Given the description of an element on the screen output the (x, y) to click on. 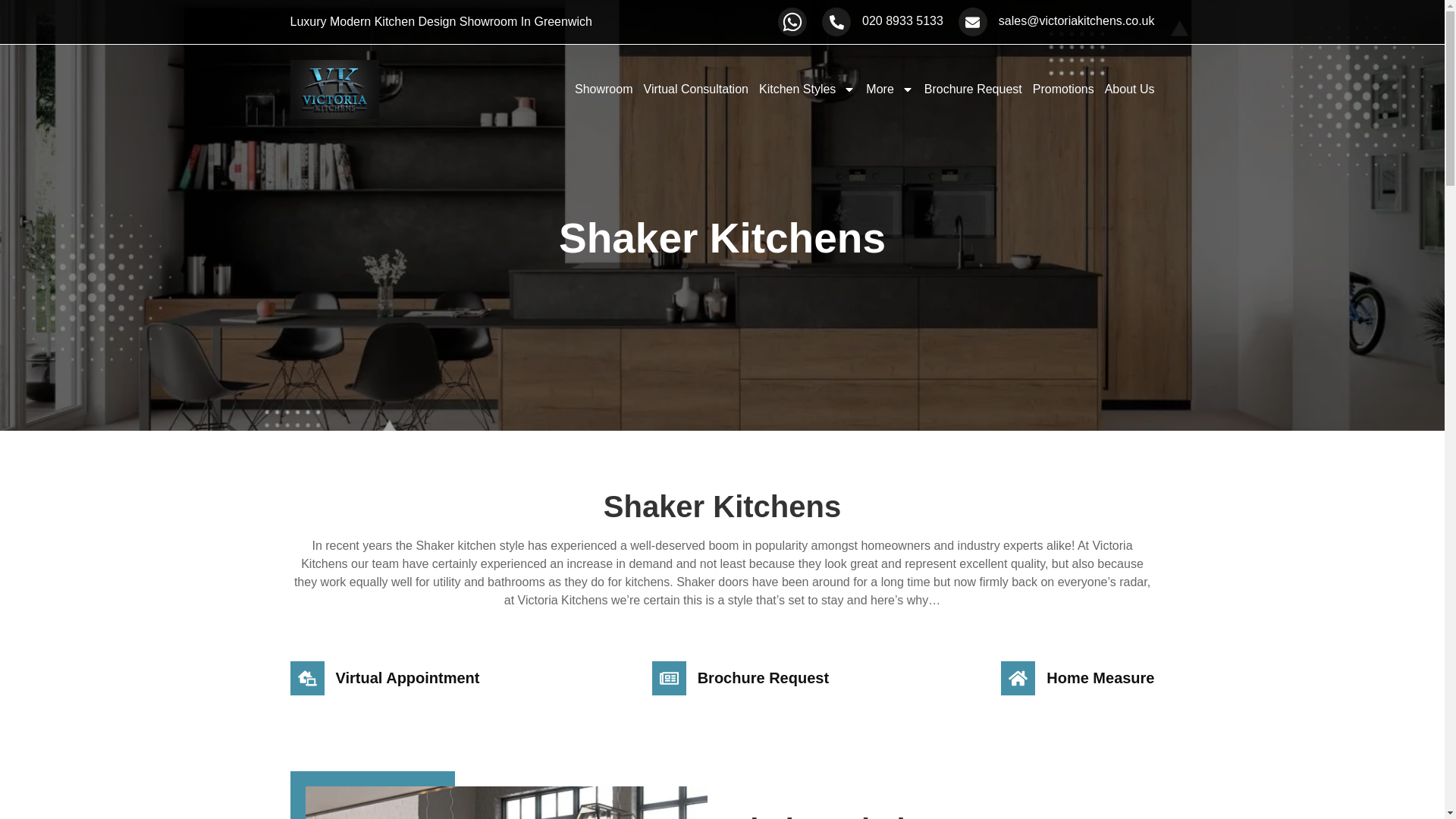
Showroom (603, 89)
Promotions (1063, 89)
Virtual Consultation (695, 89)
020 8933 5133 (902, 20)
Brochure Request (973, 89)
More (889, 89)
Kitchen Styles (807, 89)
About Us (1129, 89)
